Given the description of an element on the screen output the (x, y) to click on. 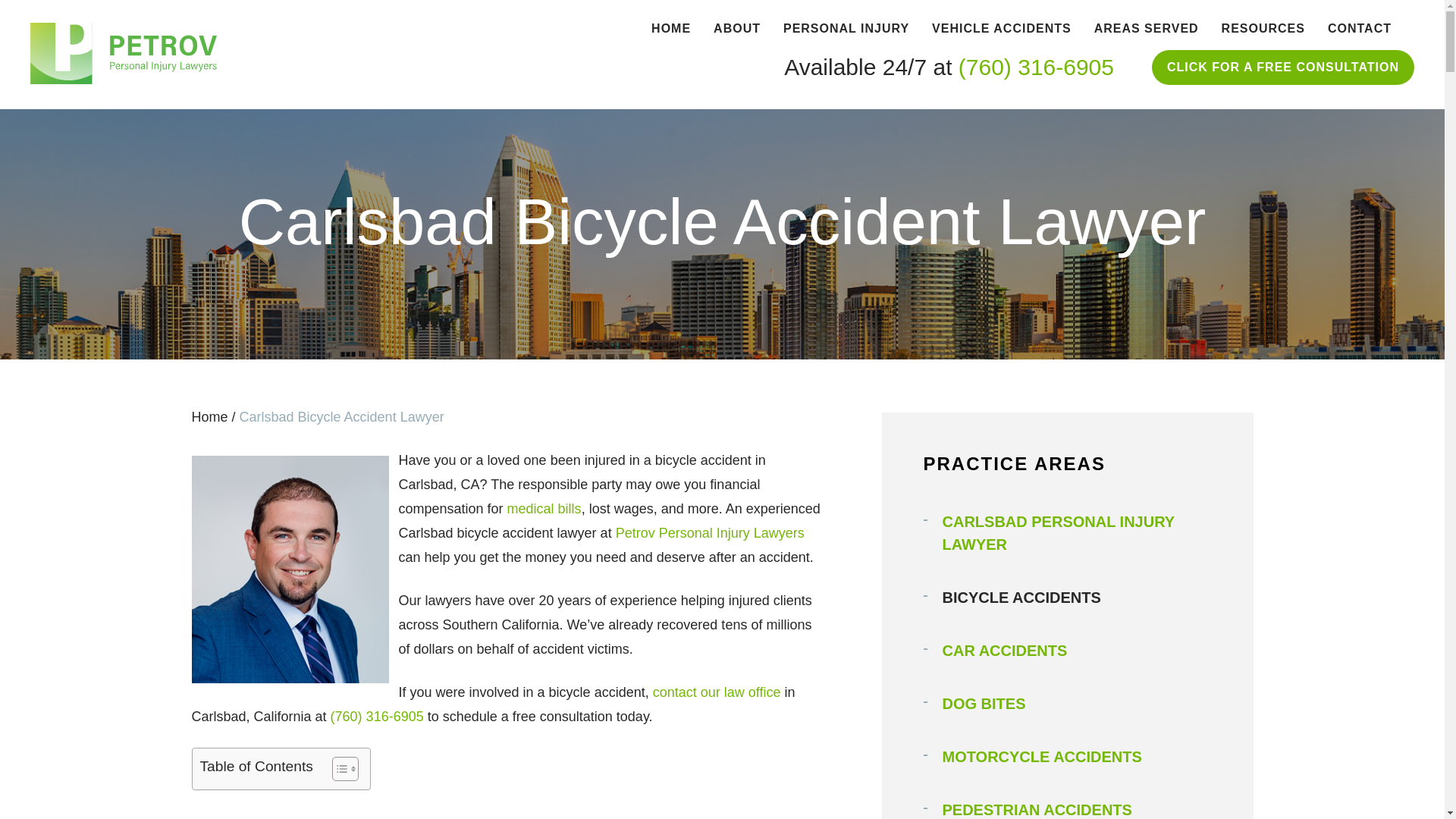
CLICK FOR A FREE CONSULTATION (1282, 67)
PERSONAL INJURY (845, 28)
AREAS SERVED (1146, 28)
RESOURCES (1262, 28)
Home (208, 417)
CONTACT (1359, 28)
VEHICLE ACCIDENTS (1001, 28)
Petrov Personal Injury Lawyers (710, 532)
CLICK FOR A FREE CONSULTATION (1282, 67)
ABOUT (736, 28)
contact our law office (716, 692)
medical bills (543, 508)
HOME (670, 28)
